Given the description of an element on the screen output the (x, y) to click on. 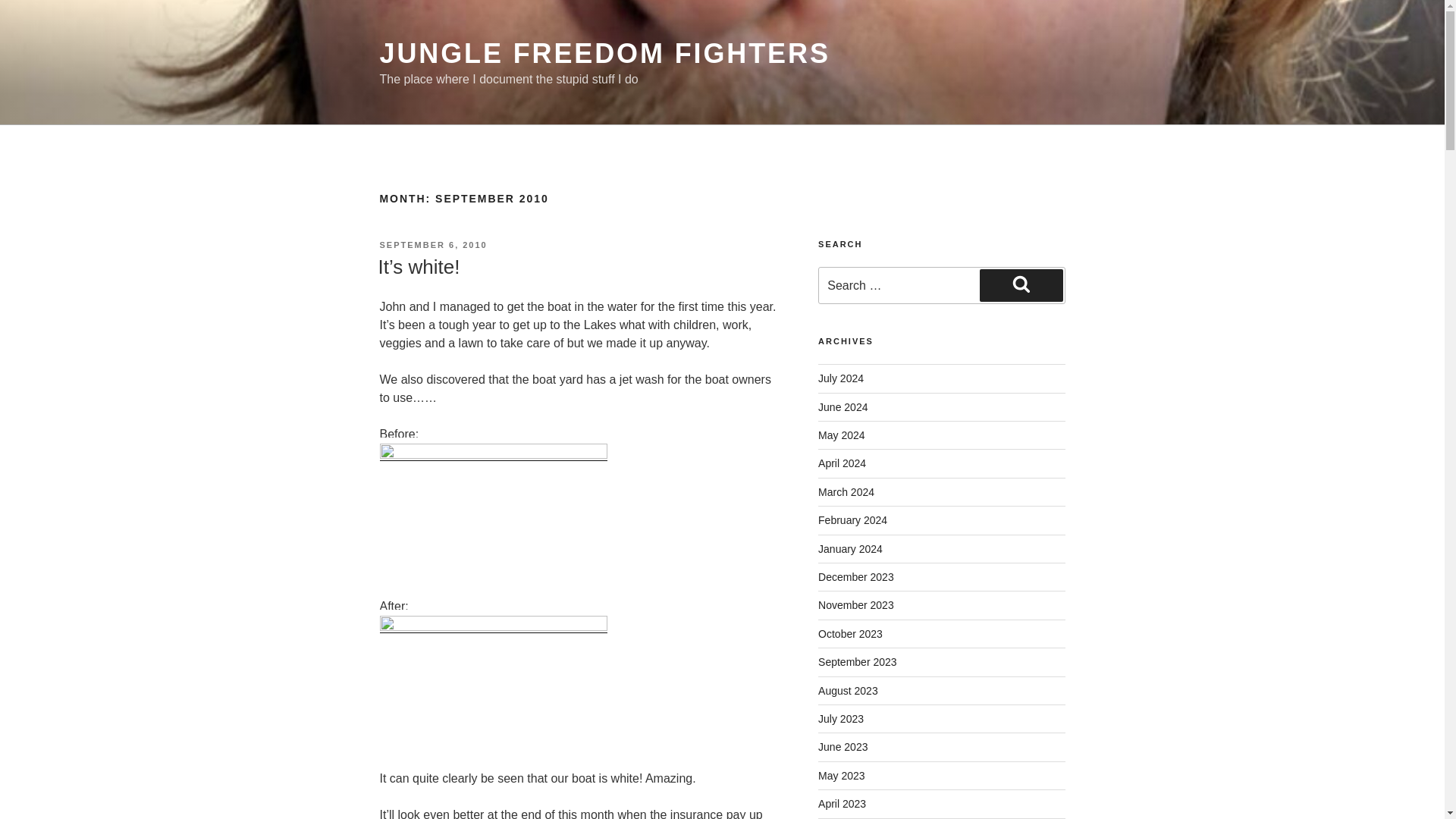
March 2024 (846, 491)
imag0279 (492, 511)
February 2024 (852, 520)
July 2024 (840, 378)
June 2024 (842, 407)
June 2023 (842, 746)
Search (1020, 285)
JUNGLE FREEDOM FIGHTERS (603, 52)
April 2024 (842, 463)
January 2024 (850, 548)
